Given the description of an element on the screen output the (x, y) to click on. 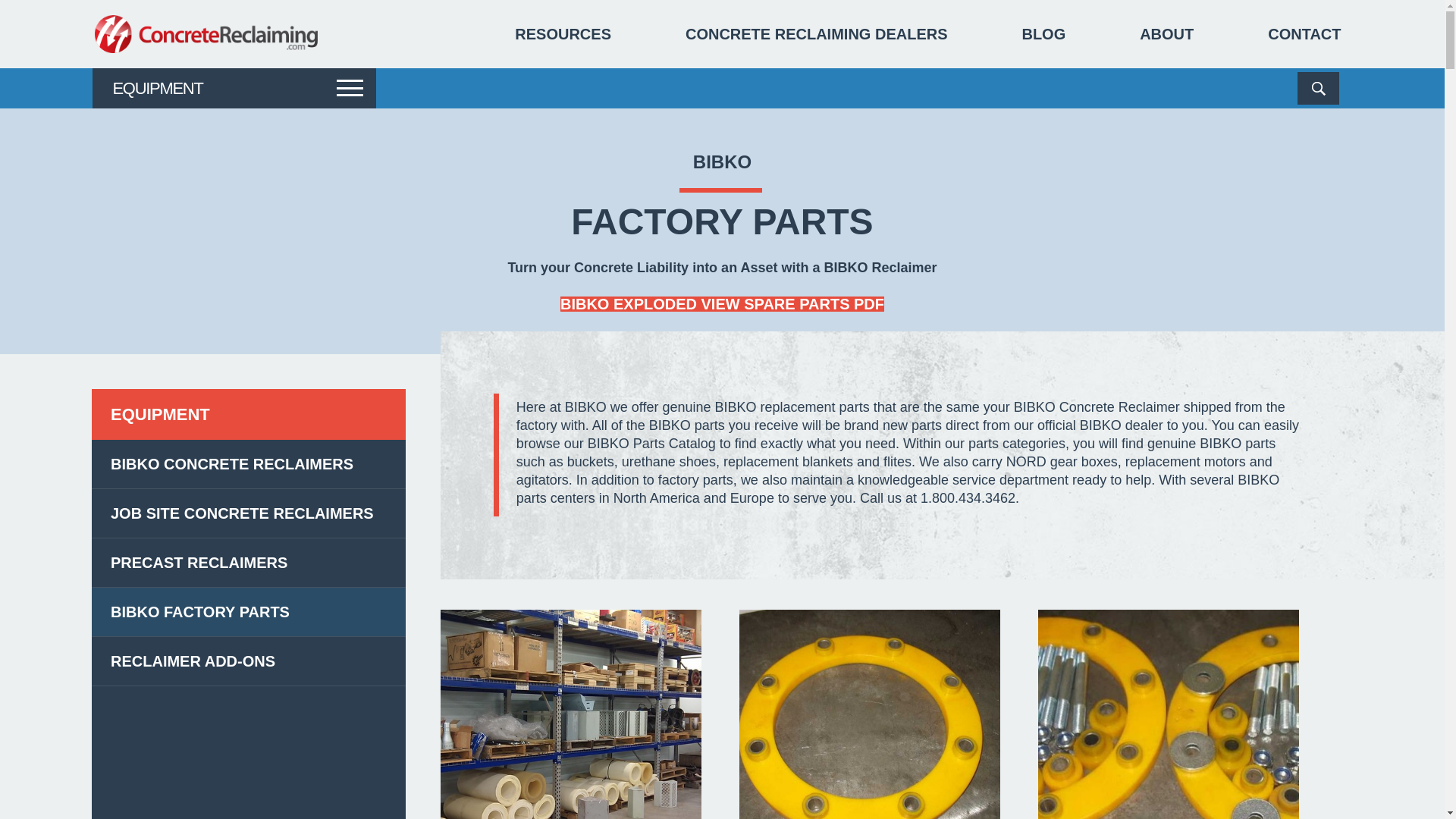
ABOUT (1166, 34)
BIBKO FACTORY PARTS (571, 714)
CONCRETE RECLAIMING DEALERS (248, 612)
BIBKO Spare Parts PDF (816, 34)
BIBKO EXPLODED VIEW SPARE PARTS PDF (721, 304)
Concrete Reclaiming (721, 304)
CONTACT (205, 34)
RECLAIMER ADD-ONS (1304, 34)
PRECAST RECLAIMERS (248, 661)
BLOG (248, 562)
BIBKO CONCRETE RECLAIMERS (1043, 34)
RESOURCES (248, 463)
JOB SITE CONCRETE RECLAIMERS (563, 34)
